Given the description of an element on the screen output the (x, y) to click on. 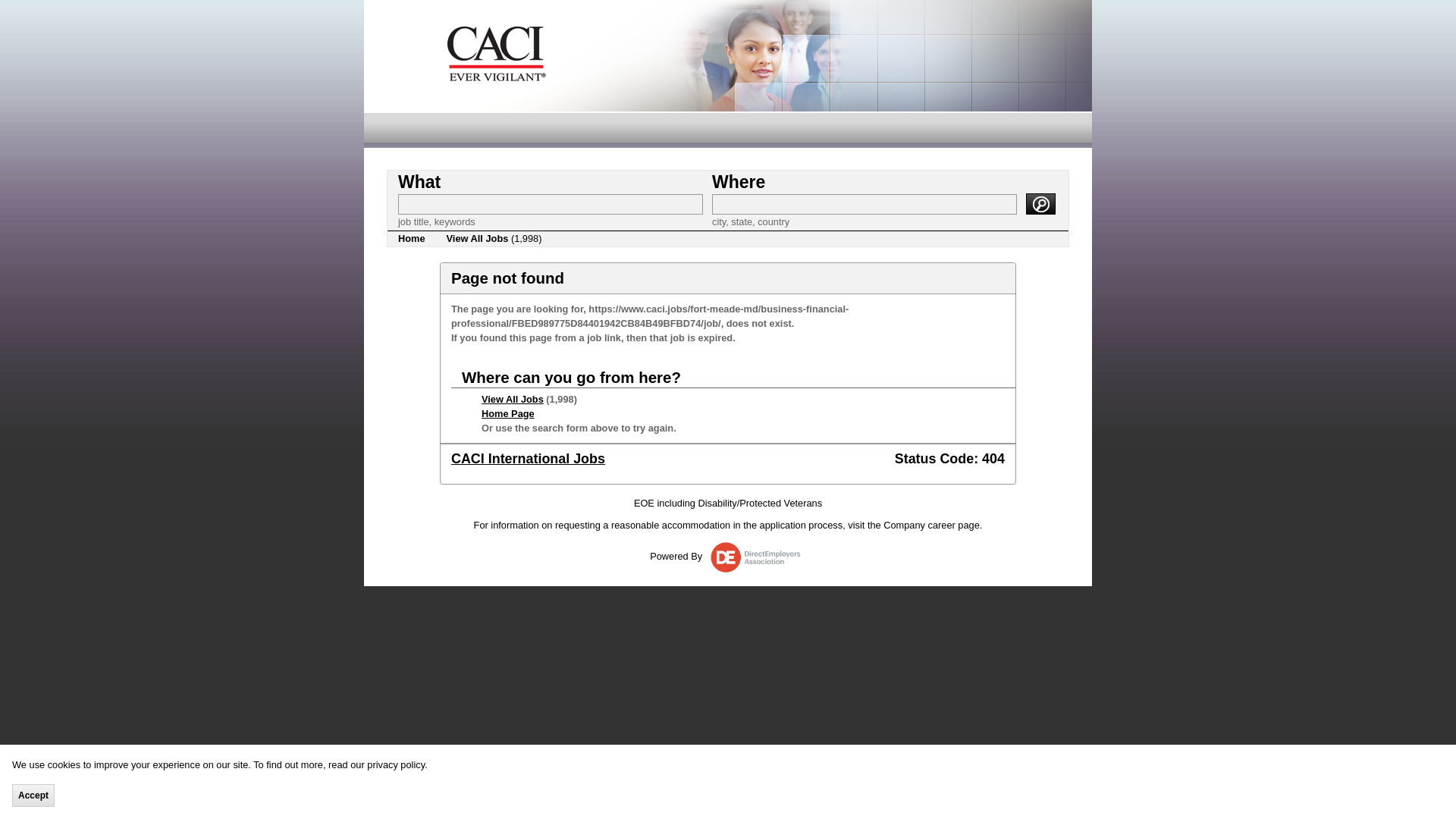
Submit Search (1040, 203)
View All Jobs (512, 398)
Search Location (863, 204)
requesting a reasonable accommodation (642, 524)
Home Page (507, 413)
Home (411, 238)
search (1040, 203)
Search Phrase (550, 204)
CACI International Jobs (528, 458)
visit the Company career page (913, 524)
